Given the description of an element on the screen output the (x, y) to click on. 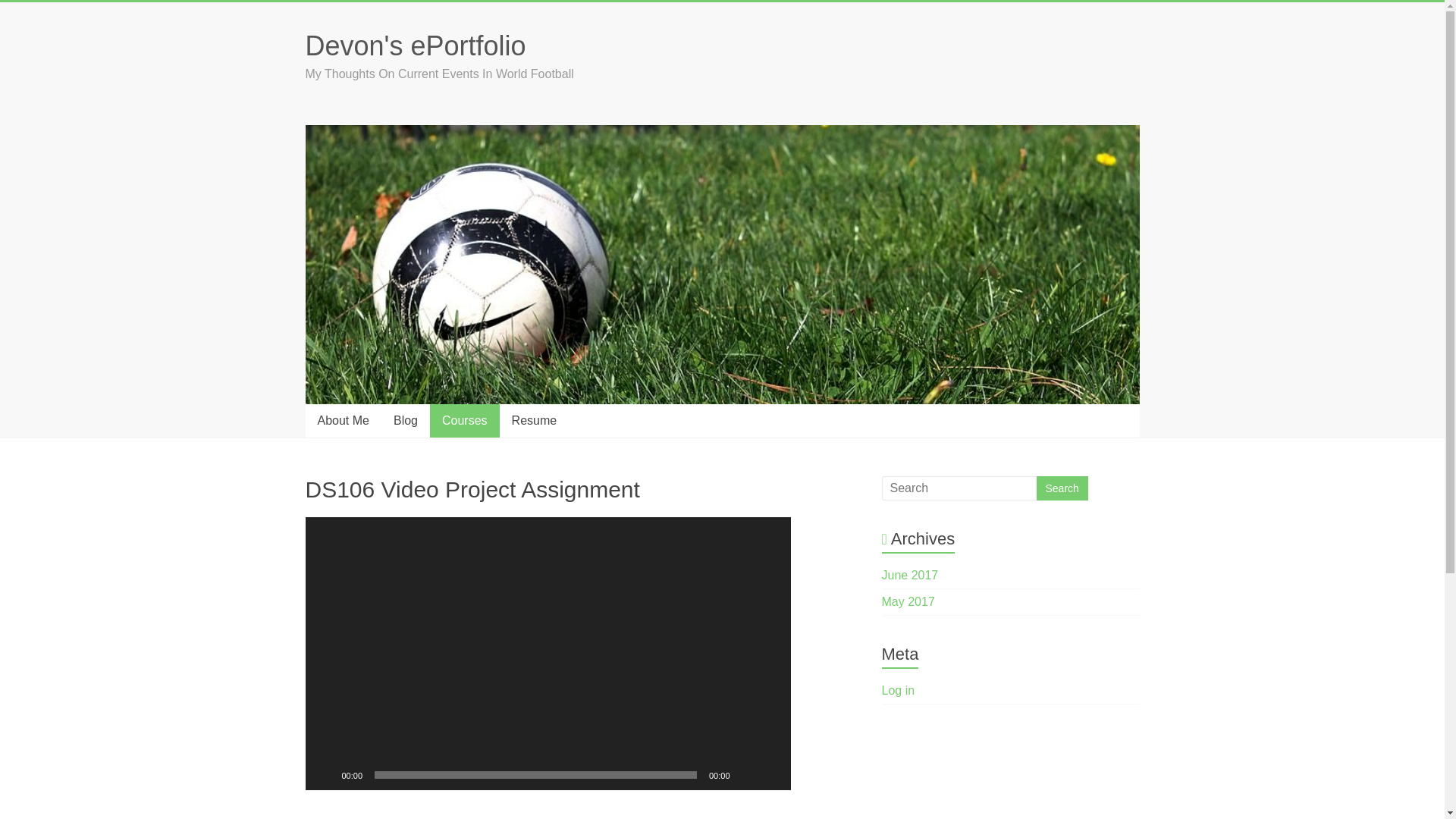
Devon's ePortfolio (414, 45)
Blog (405, 420)
About Me (342, 420)
Play (324, 774)
Resume (534, 420)
June 2017 (910, 574)
Fullscreen (769, 774)
Log in (898, 689)
Search (1061, 487)
Search (1061, 487)
May 2017 (908, 601)
Mute (746, 774)
Courses (464, 420)
Devon's ePortfolio (414, 45)
